Given the description of an element on the screen output the (x, y) to click on. 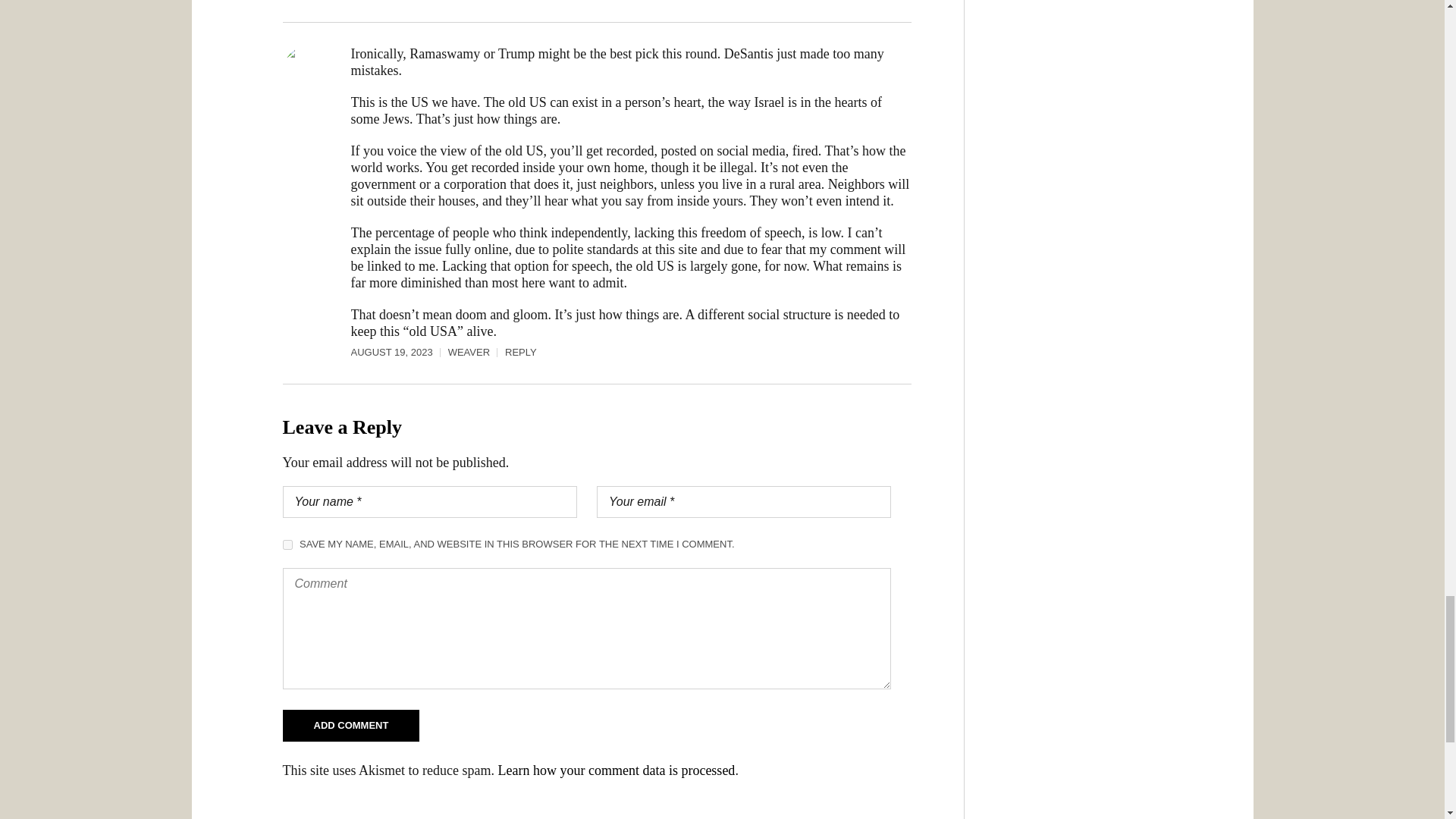
yes (287, 544)
REPLY (521, 352)
Learn how your comment data is processed (616, 770)
August 19, 2023 (398, 352)
Add Comment (350, 726)
Add Comment (350, 726)
